Given the description of an element on the screen output the (x, y) to click on. 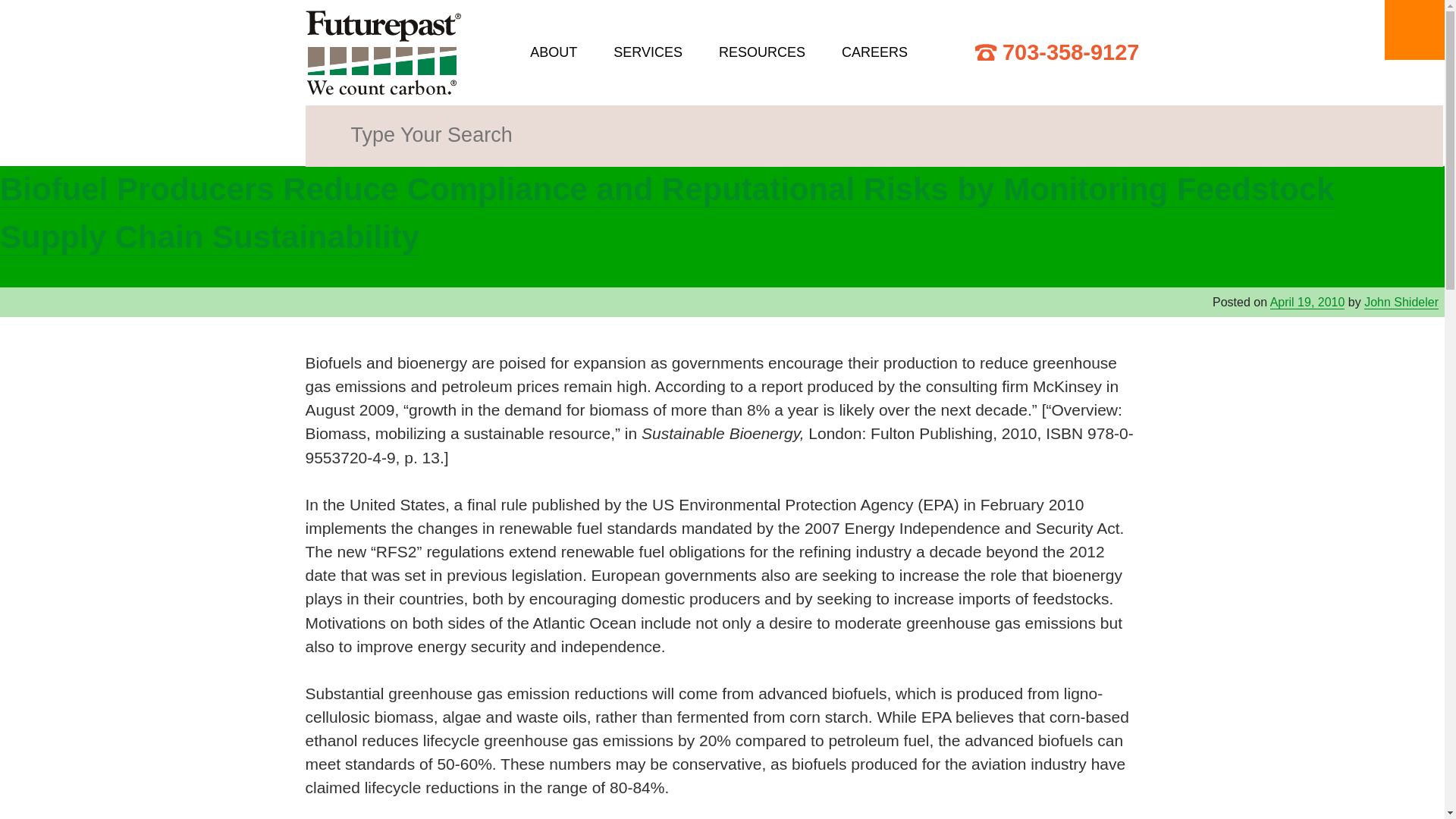
CAREERS (874, 52)
RESOURCES (762, 52)
April 19, 2010 (1307, 302)
SERVICES (647, 52)
John Shideler (1401, 302)
703-358-9127 (1057, 52)
ABOUT (552, 52)
